Given the description of an element on the screen output the (x, y) to click on. 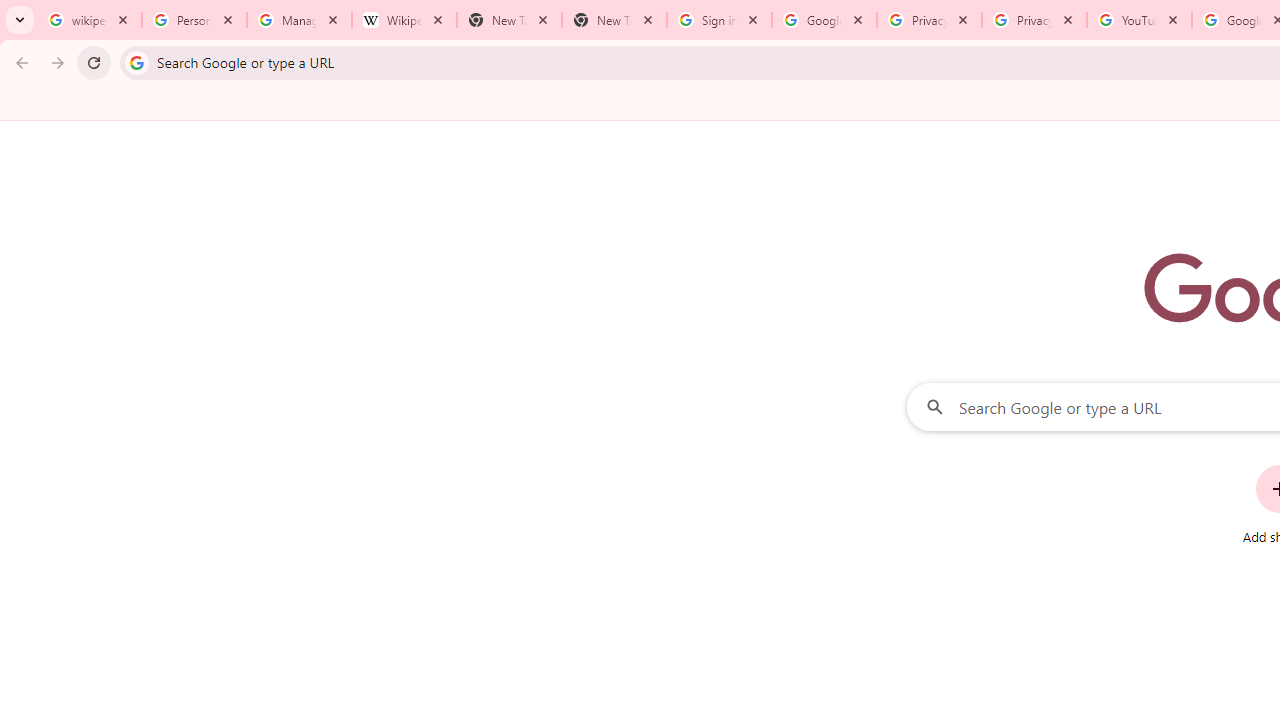
Google Drive: Sign-in (823, 20)
Personalization & Google Search results - Google Search Help (194, 20)
New Tab (613, 20)
Wikipedia:Edit requests - Wikipedia (404, 20)
YouTube (1138, 20)
Sign in - Google Accounts (718, 20)
Manage your Location History - Google Search Help (299, 20)
